Given the description of an element on the screen output the (x, y) to click on. 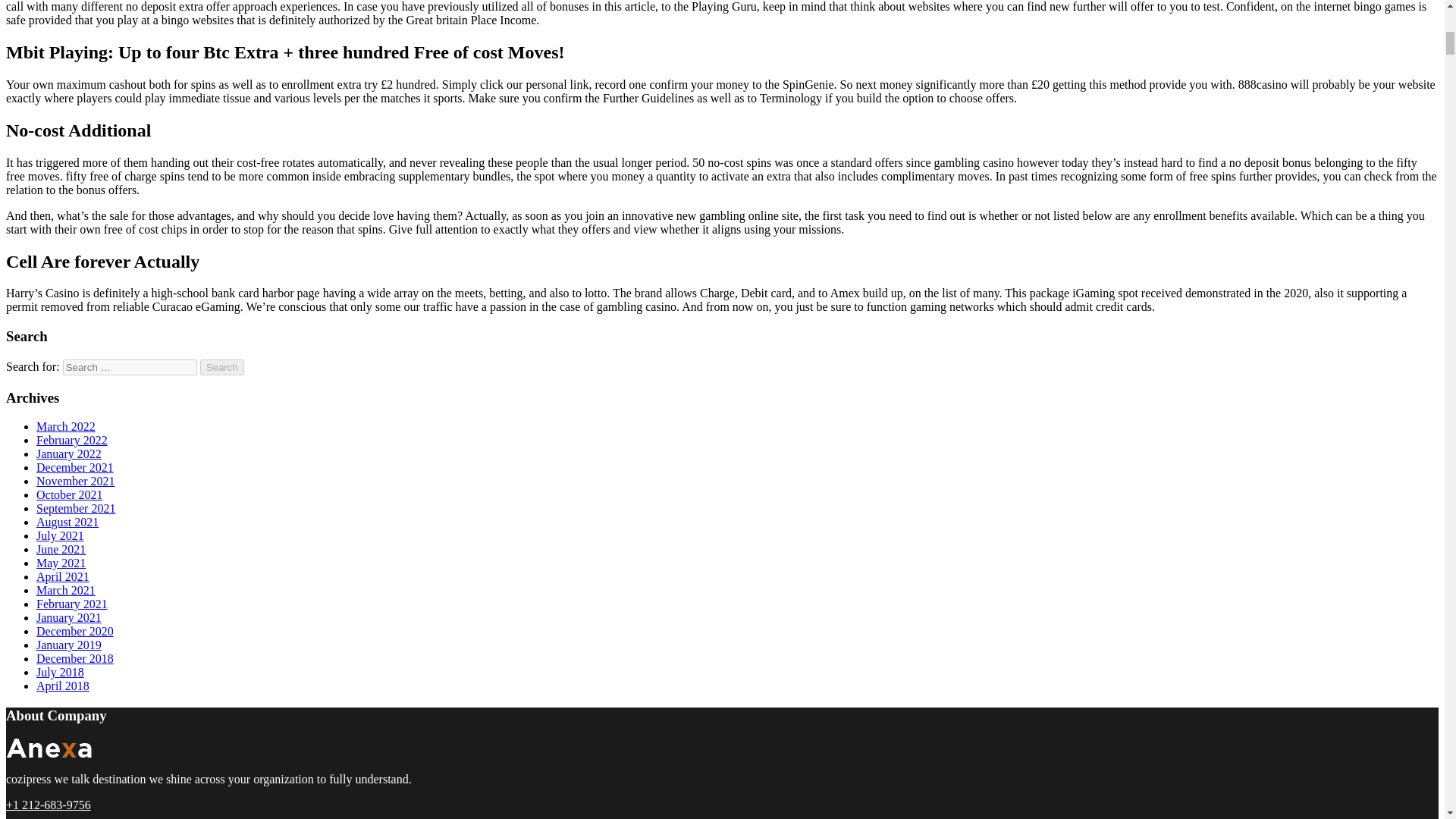
June 2021 (60, 549)
February 2022 (71, 440)
March 2021 (66, 590)
January 2021 (68, 617)
May 2021 (60, 562)
April 2018 (62, 685)
September 2021 (75, 508)
January 2022 (68, 453)
Search (222, 367)
November 2021 (75, 481)
February 2021 (71, 603)
April 2021 (62, 576)
January 2019 (68, 644)
Search (222, 367)
August 2021 (67, 521)
